Given the description of an element on the screen output the (x, y) to click on. 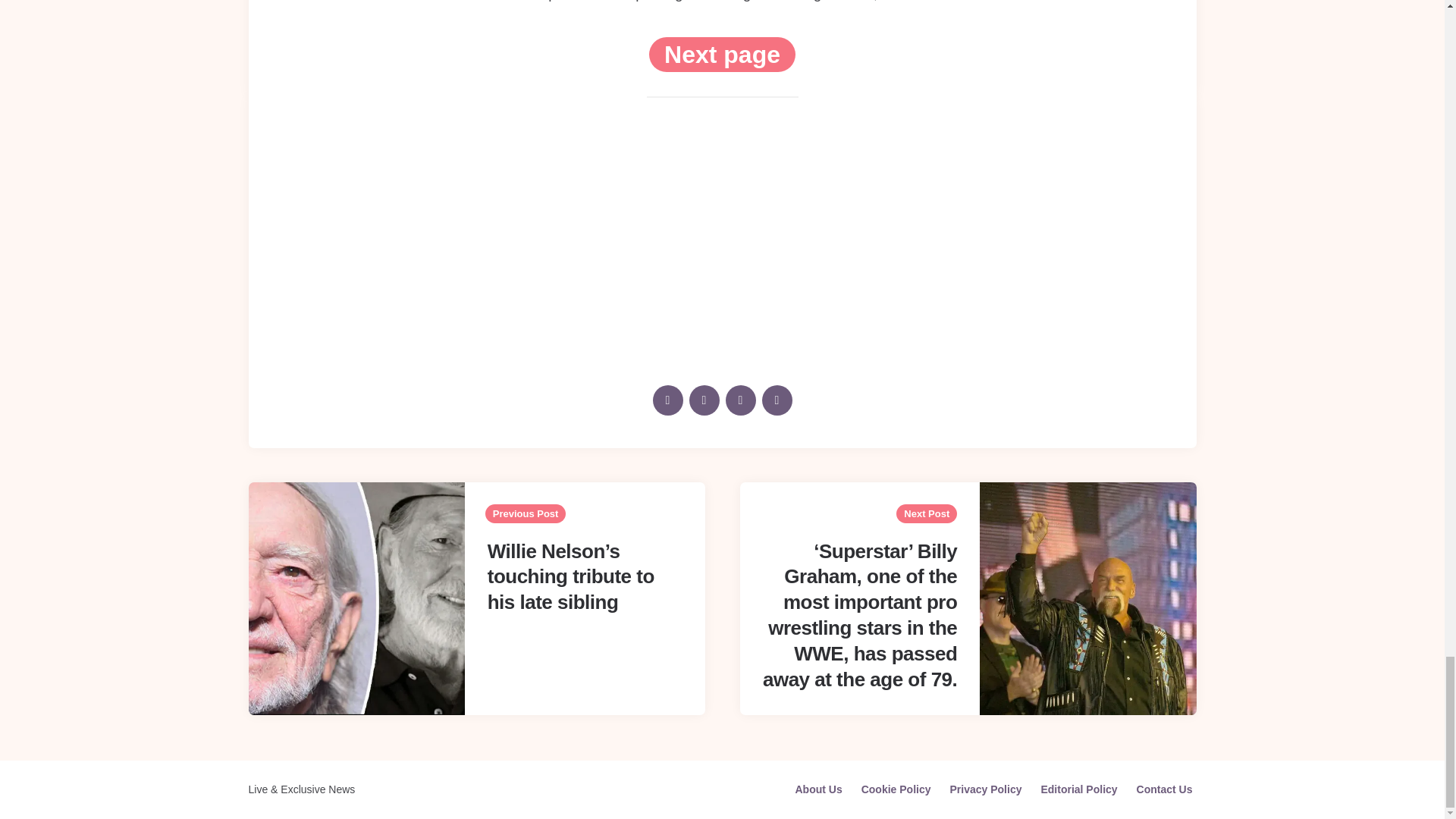
Next page (721, 54)
Cookie Policy (896, 788)
Contact Us (1164, 788)
About Us (817, 788)
Editorial Policy (1078, 788)
Privacy Policy (985, 788)
